Given the description of an element on the screen output the (x, y) to click on. 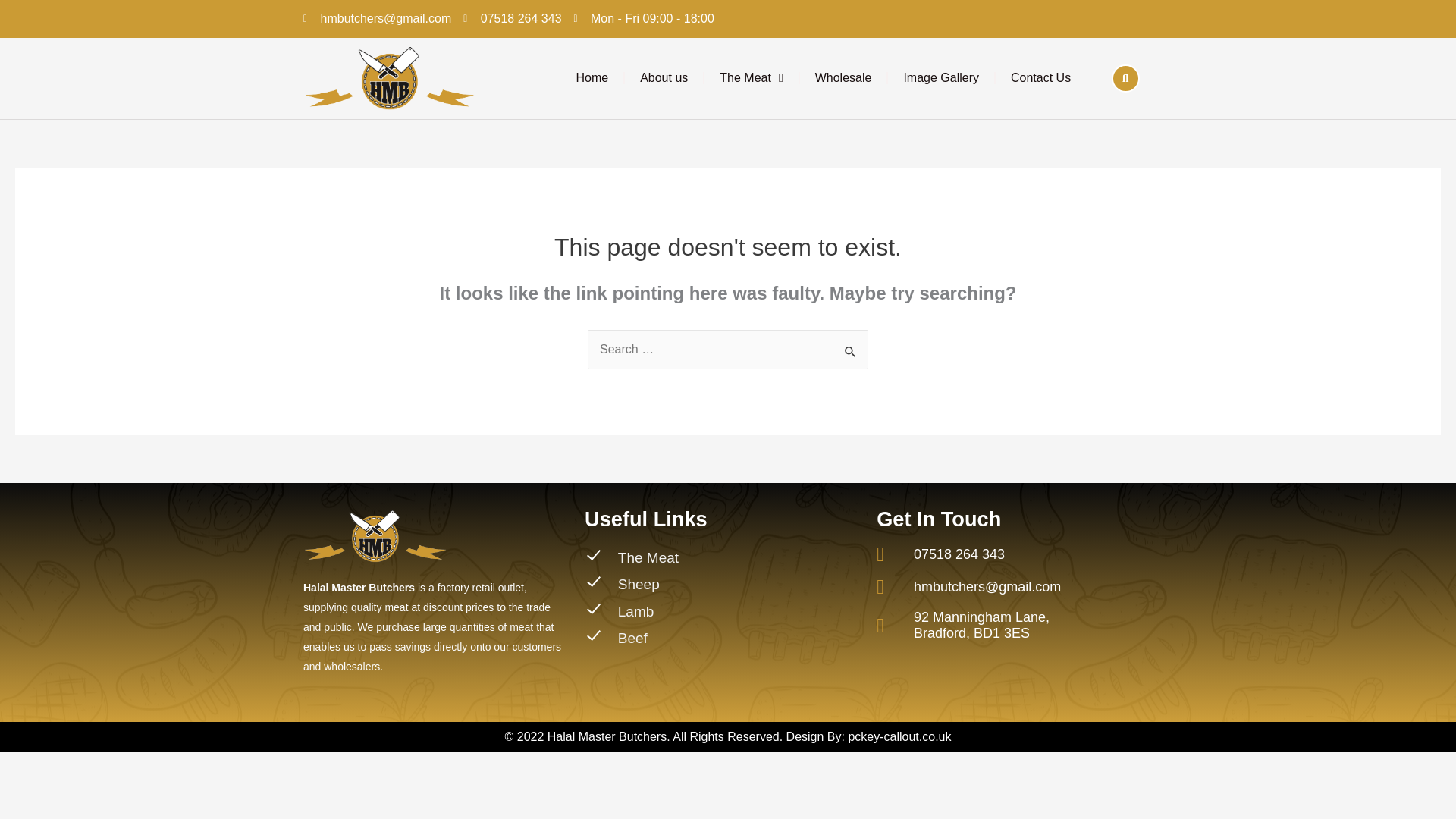
About us (663, 77)
Wholesale (842, 77)
Beef (723, 640)
Home (591, 77)
Lamb (723, 614)
Image Gallery (941, 77)
The Meat (750, 77)
The Meat (723, 562)
Sheep (723, 588)
Contact Us (1040, 77)
